Given the description of an element on the screen output the (x, y) to click on. 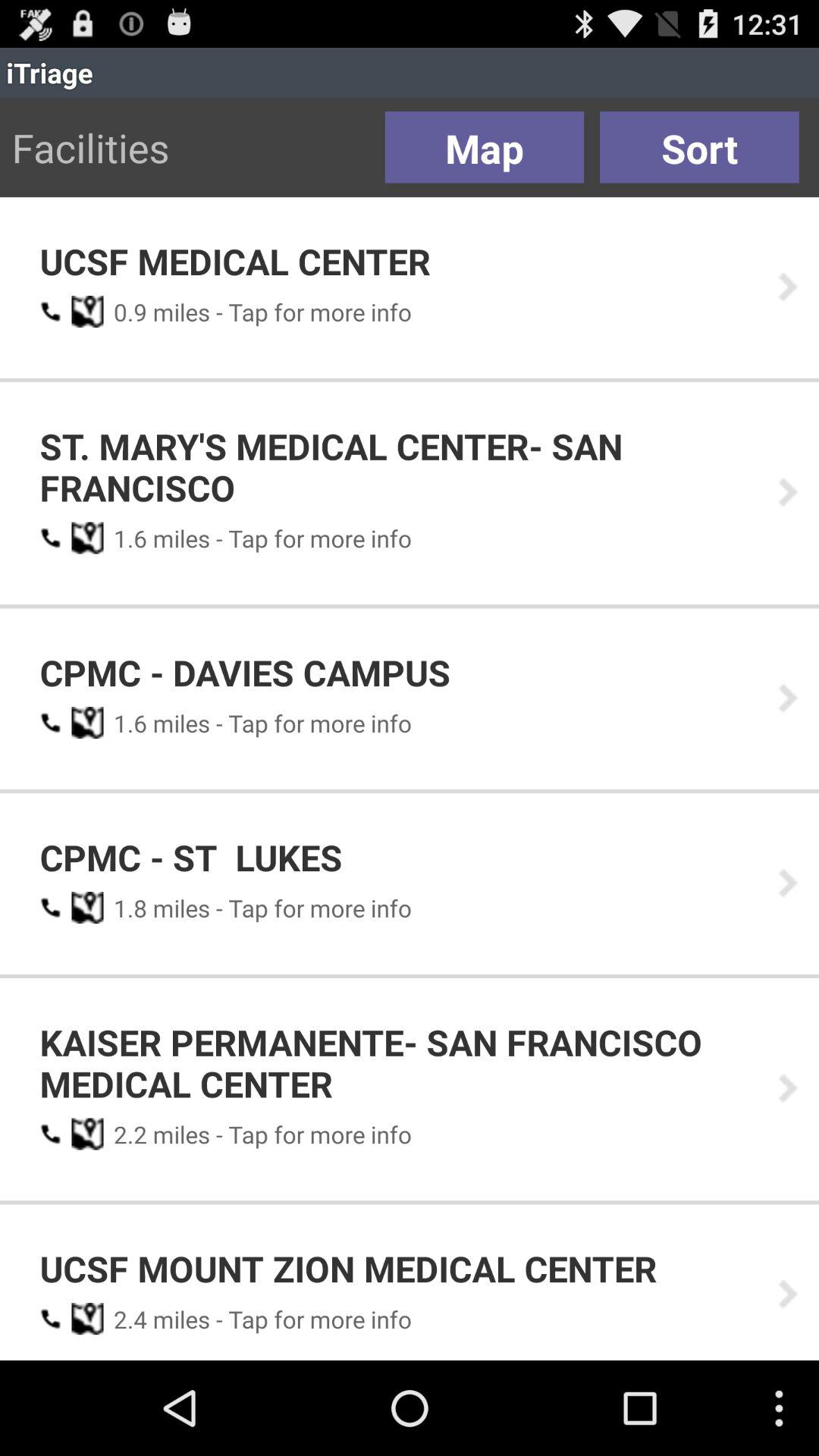
swipe to kaiser permanente san icon (398, 1062)
